Given the description of an element on the screen output the (x, y) to click on. 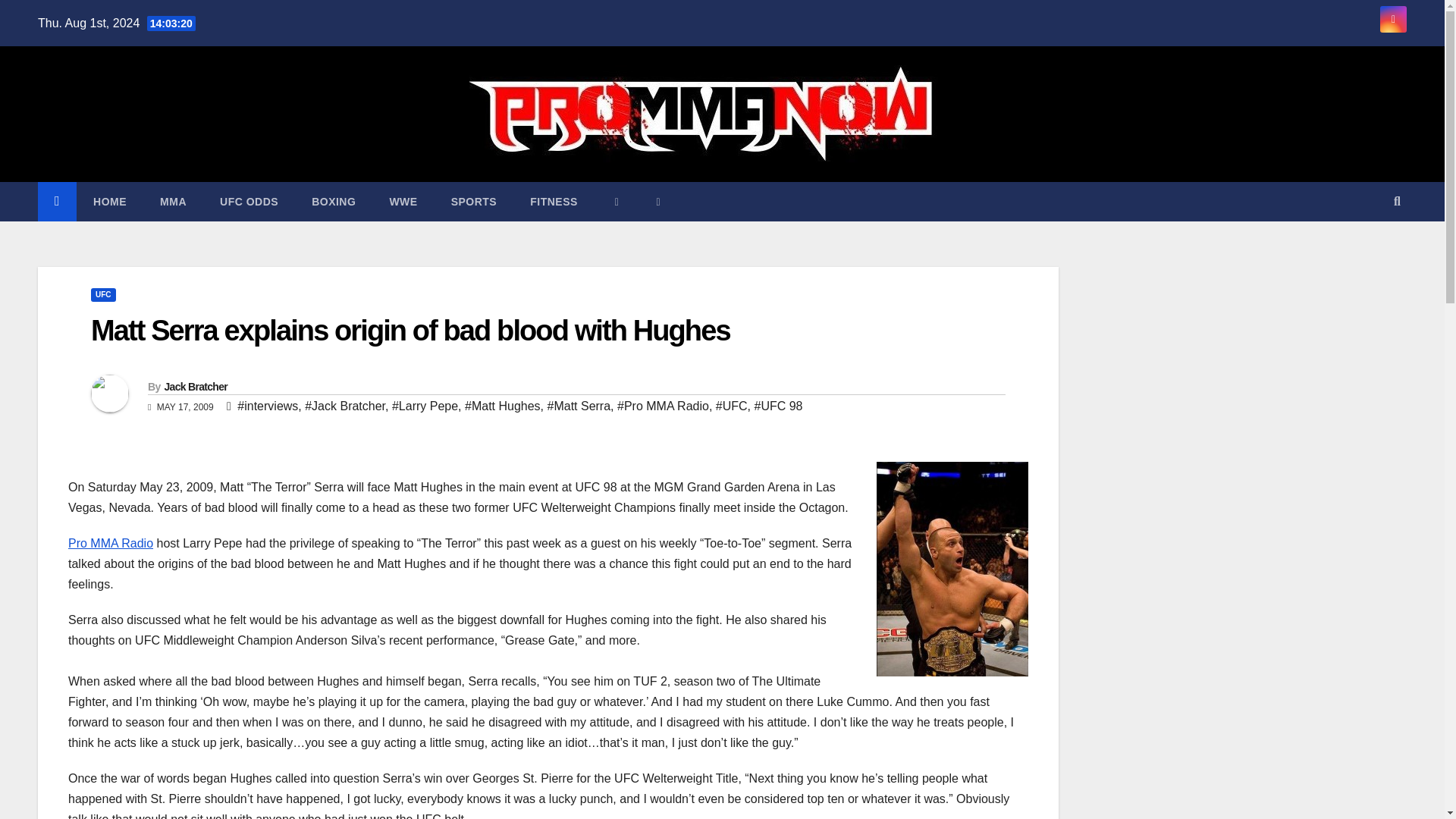
WWE (402, 201)
Jack Bratcher (195, 386)
UFC ODDS (249, 201)
Sports (473, 201)
UFC Odds (249, 201)
UFC (103, 295)
BOXING (333, 201)
MMA (172, 201)
HOME (109, 201)
Boxing (333, 201)
Home (109, 201)
Pro MMA Radio (110, 543)
Matt Serra explains origin of bad blood with Hughes (410, 330)
WWE (402, 201)
